Given the description of an element on the screen output the (x, y) to click on. 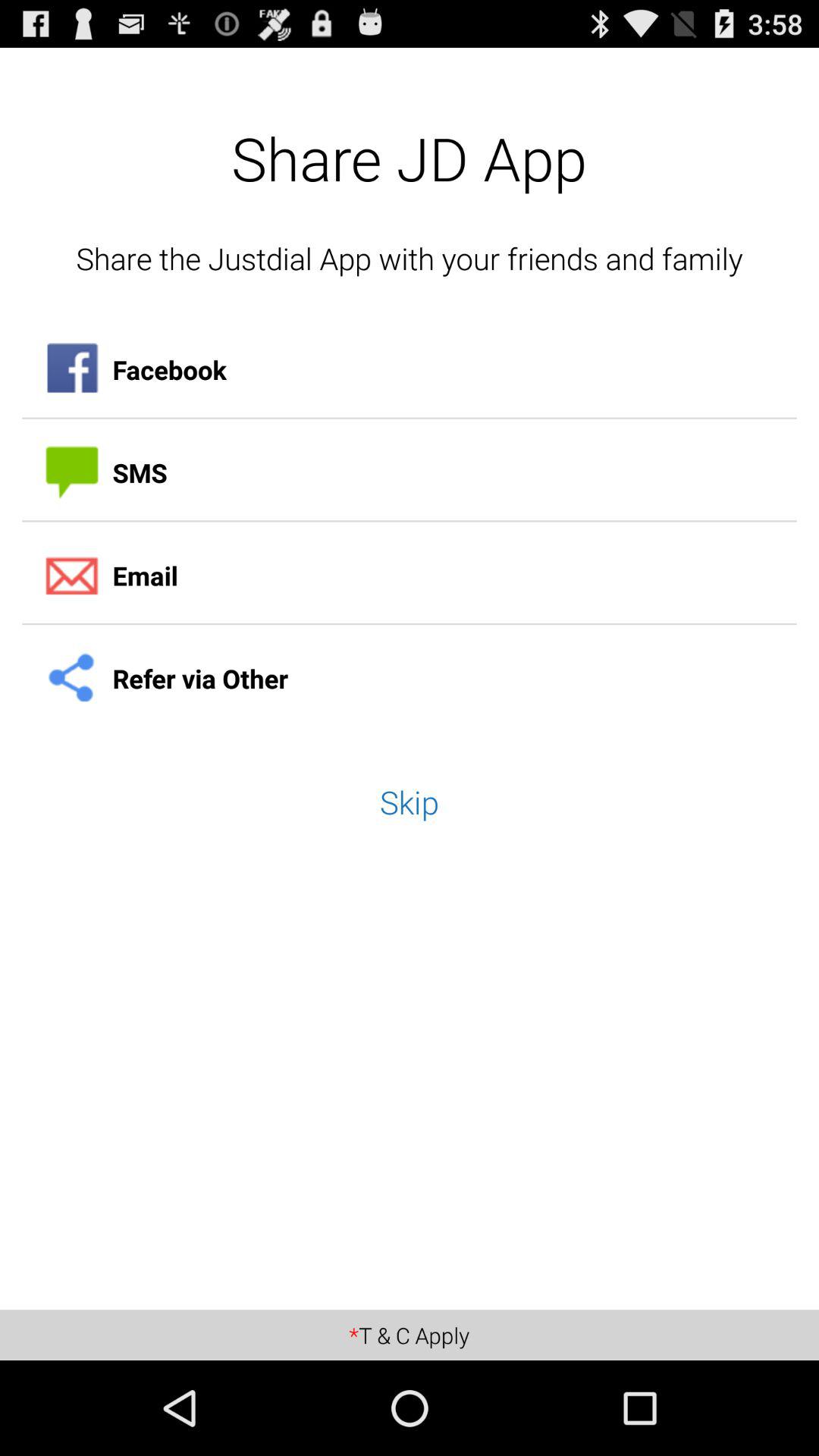
choose the facebook (409, 369)
